Given the description of an element on the screen output the (x, y) to click on. 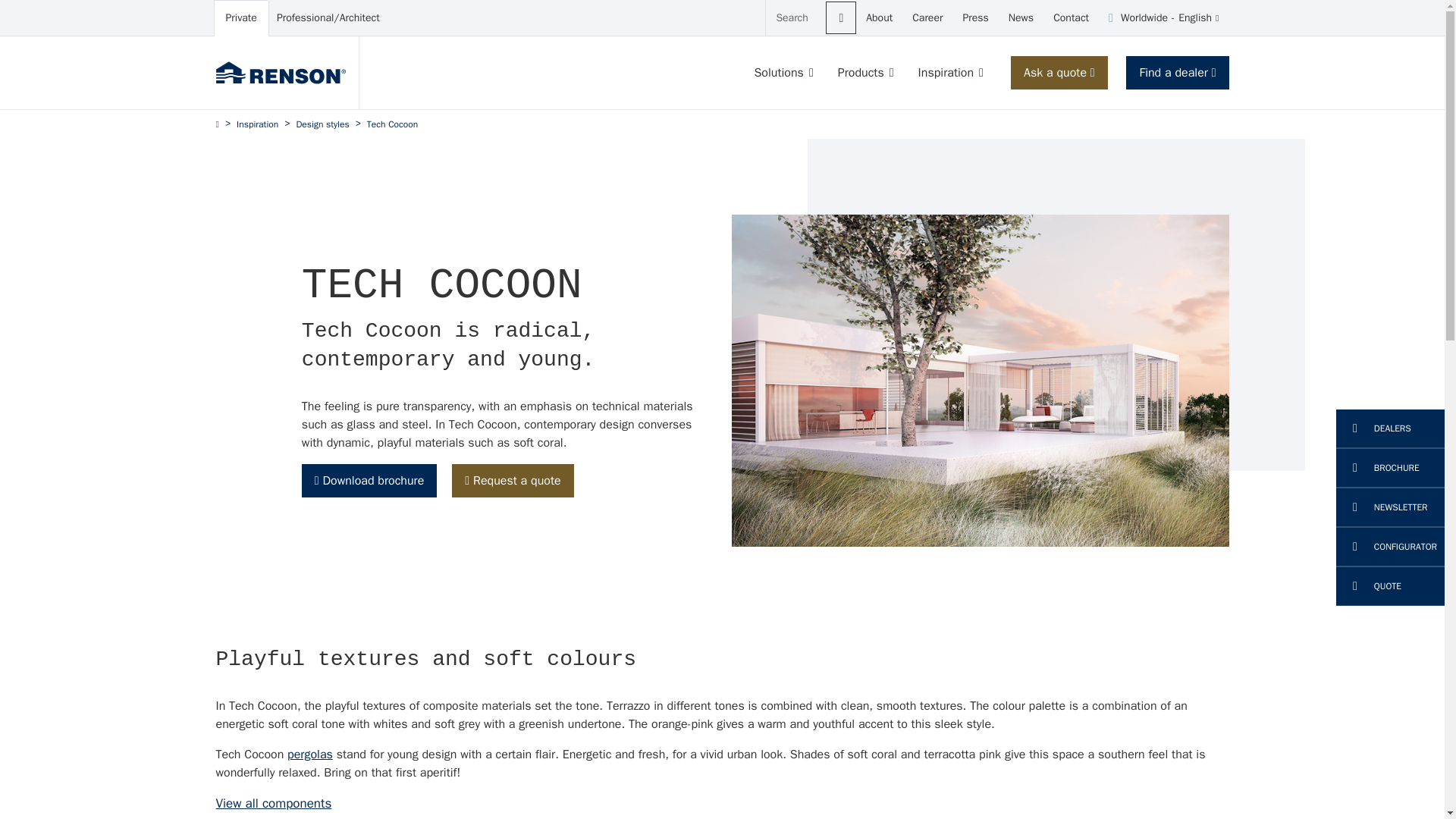
News (1163, 17)
Career (1020, 17)
Press (927, 17)
About (974, 17)
Career (879, 17)
News (927, 17)
Solutions (1020, 17)
Search (778, 72)
Contact (840, 17)
Private (1071, 17)
Contact (240, 17)
About (1071, 17)
Press (879, 17)
